Given the description of an element on the screen output the (x, y) to click on. 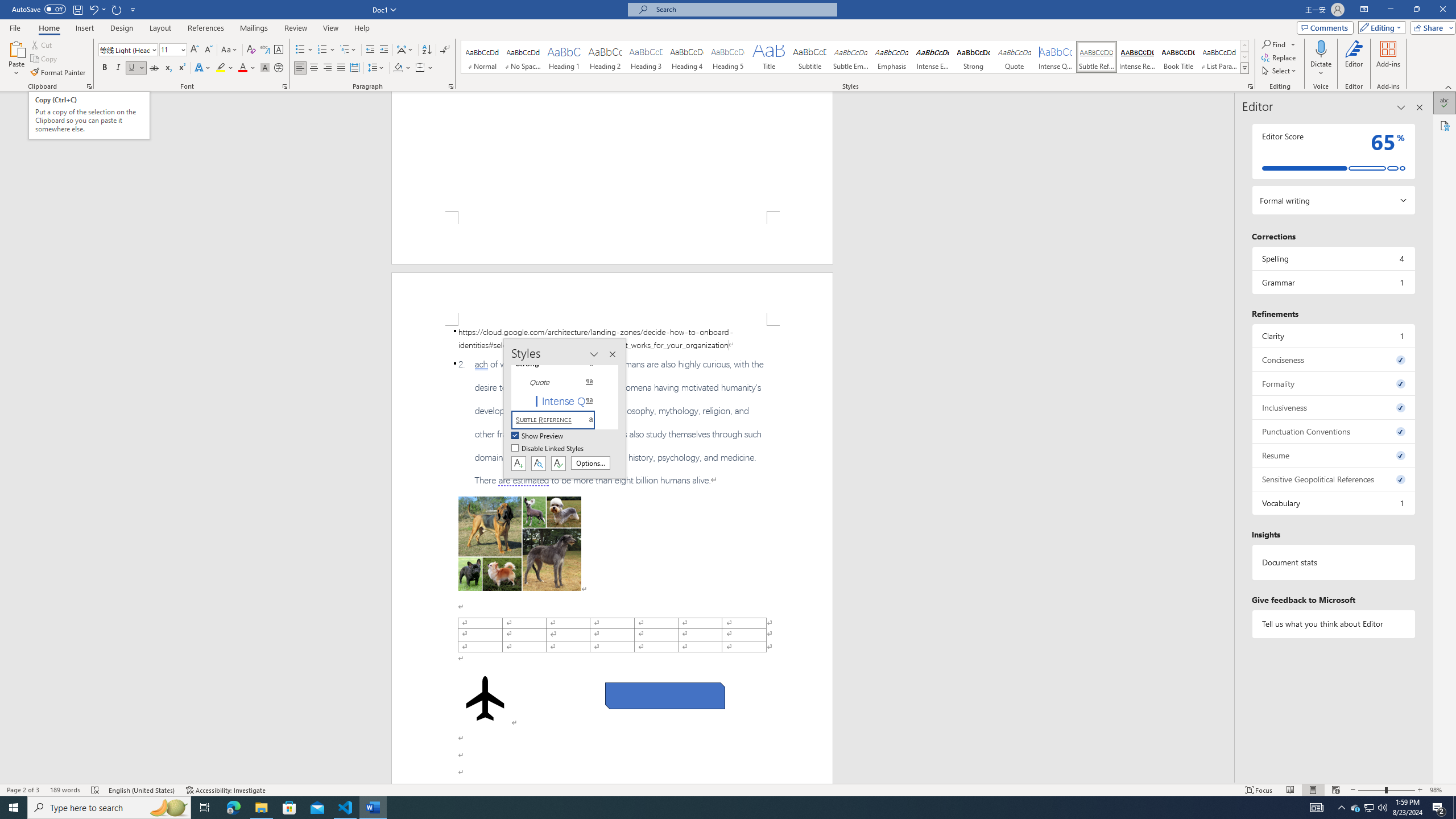
Disable Linked Styles (548, 448)
Airplane with solid fill (485, 697)
Conciseness, 0 issues. Press space or enter to review items. (1333, 359)
Page Number Page 2 of 3 (22, 790)
